Given the description of an element on the screen output the (x, y) to click on. 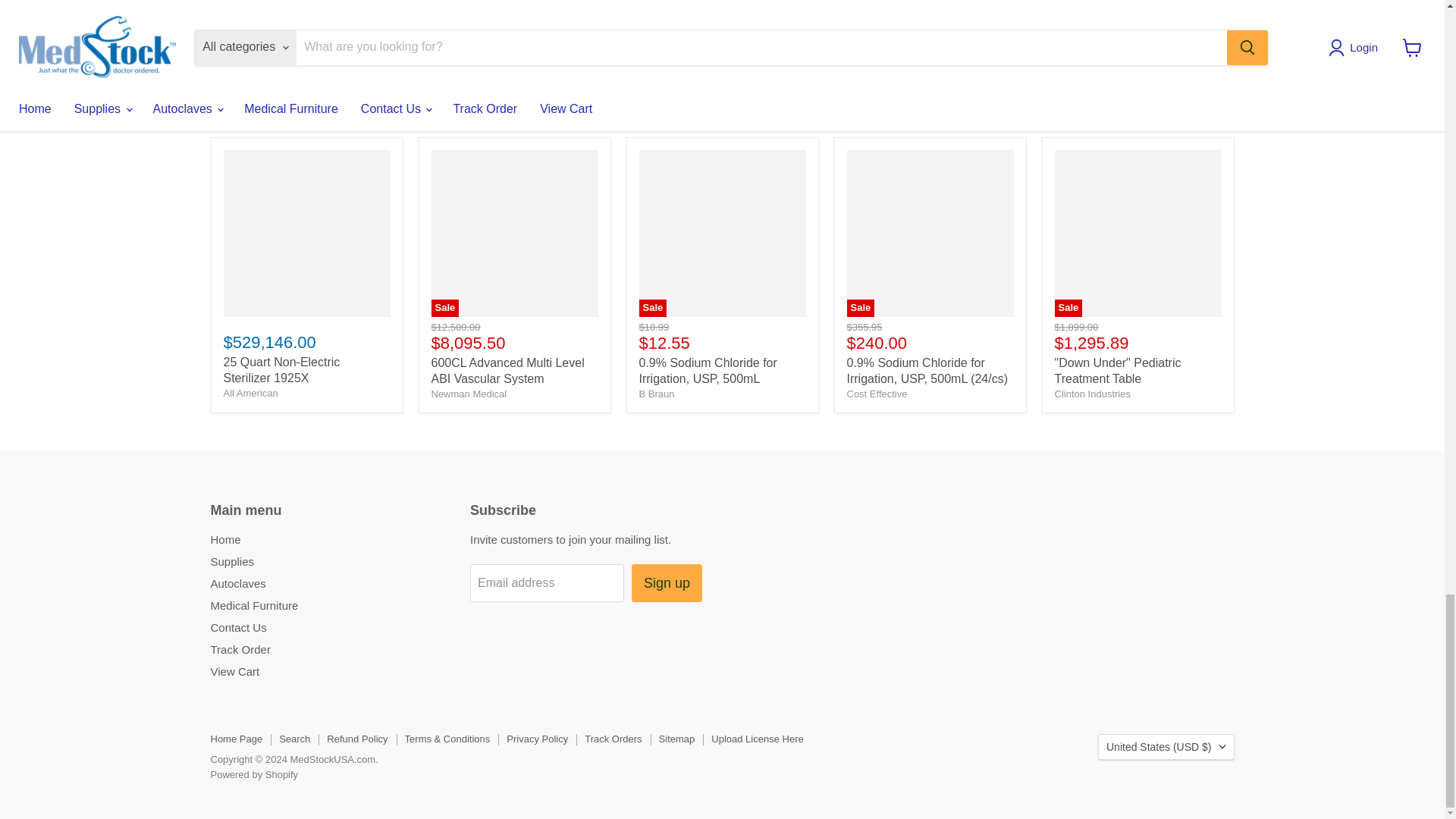
B Braun (656, 393)
All American (250, 392)
Clinton Industries (1091, 393)
Cost Effective (876, 393)
Newman Medical (468, 393)
